Given the description of an element on the screen output the (x, y) to click on. 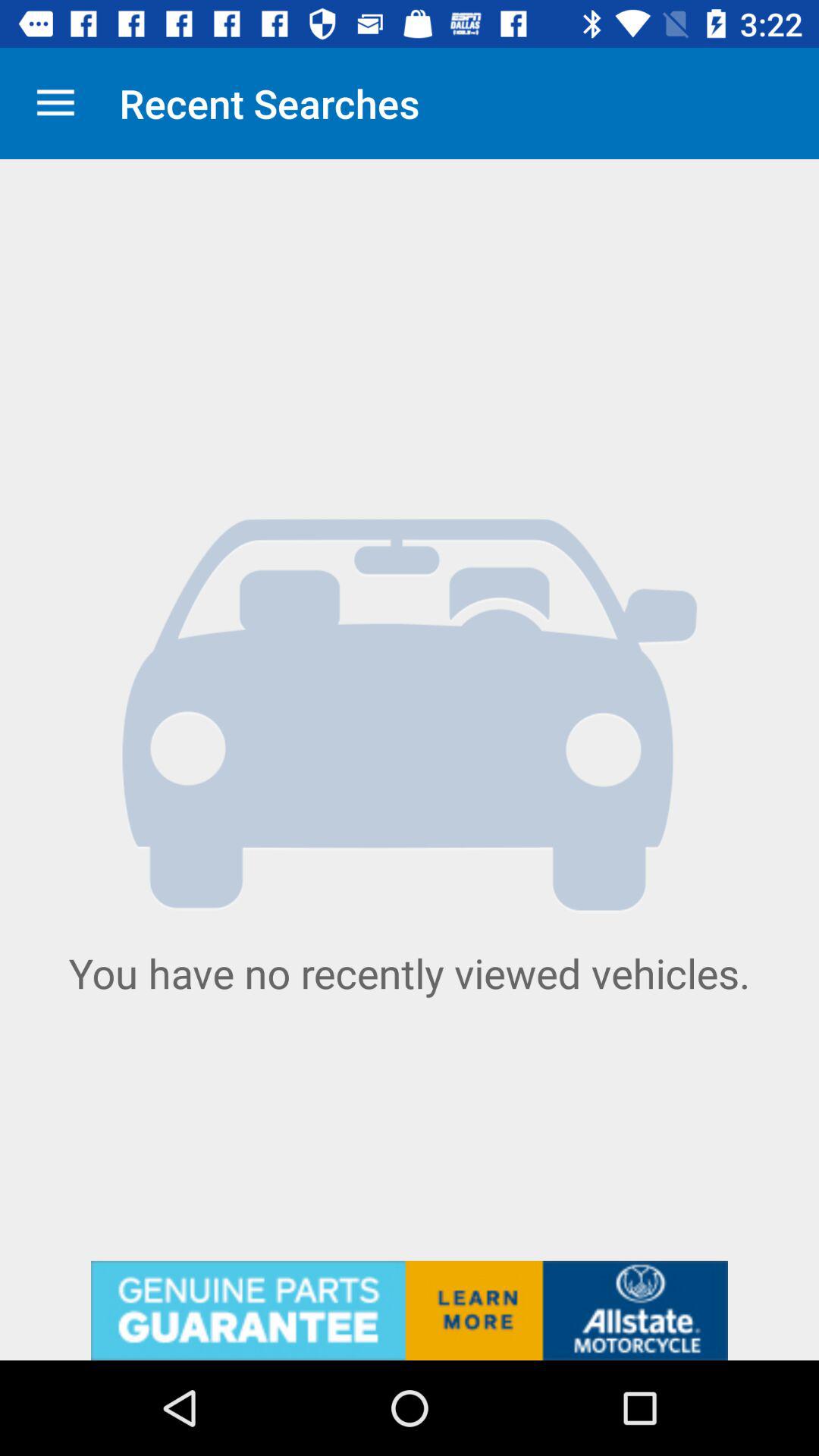
advertisement (409, 1310)
